Given the description of an element on the screen output the (x, y) to click on. 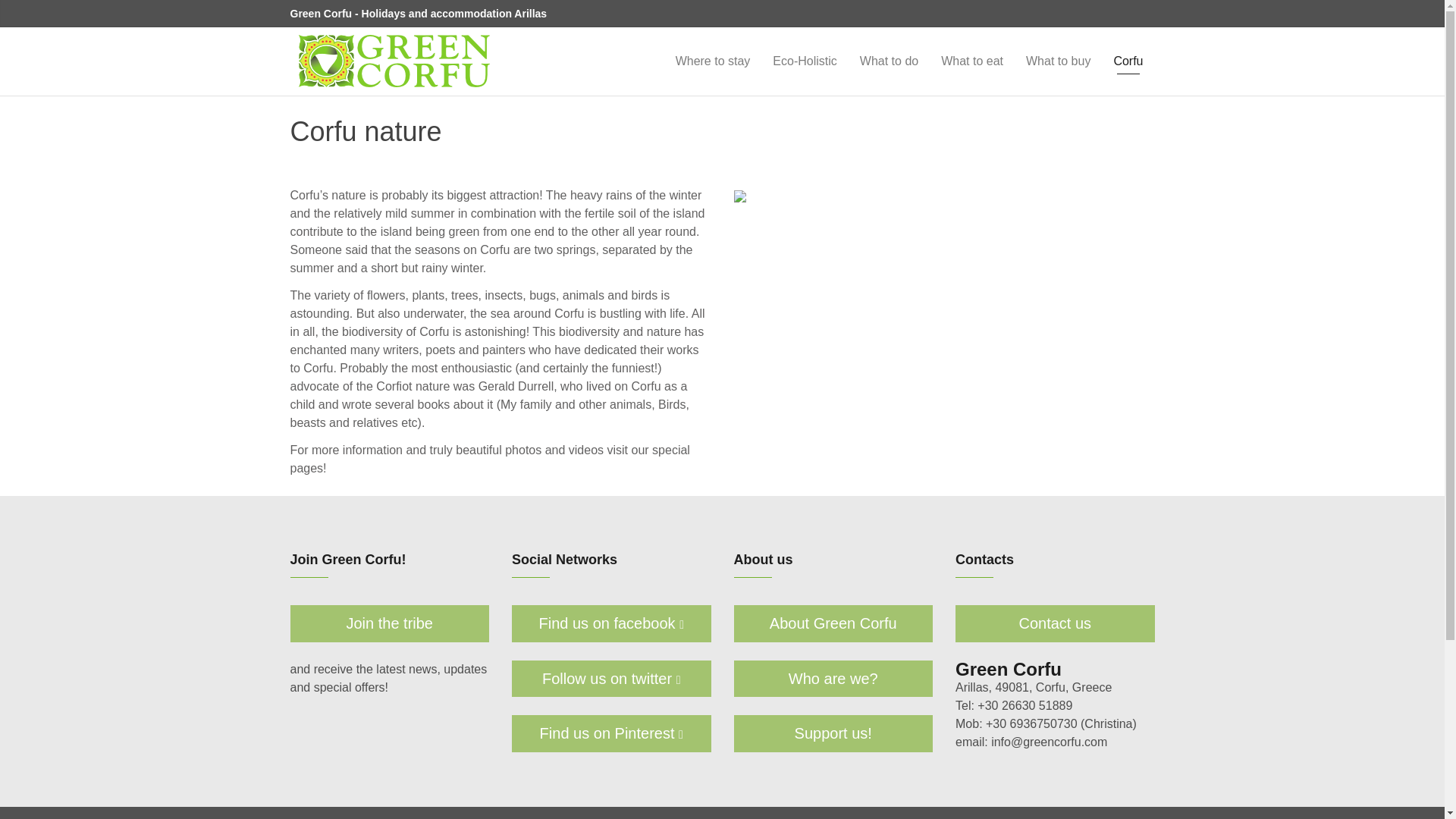
Where to stay (712, 61)
What to eat (972, 61)
What to do (889, 61)
Eco-Holistic (804, 61)
